Given the description of an element on the screen output the (x, y) to click on. 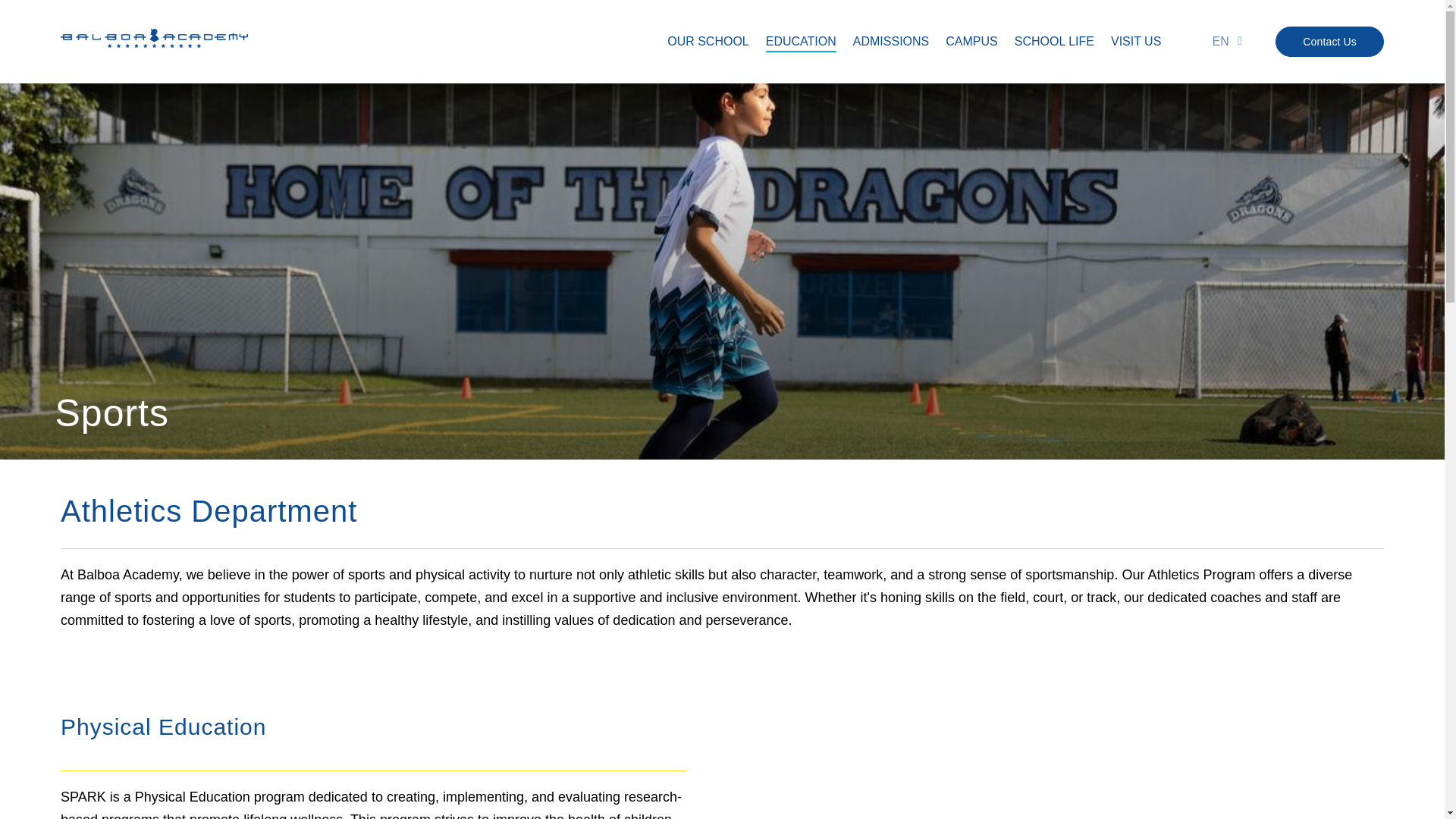
EDUCATION (800, 41)
EN (1222, 41)
OUR SCHOOL (707, 41)
VISIT US (1135, 41)
Balboa Academy (154, 41)
CAMPUS (970, 41)
SCHOOL LIFE (1054, 41)
ADMISSIONS (890, 41)
Skip to main content (721, 1)
